Given the description of an element on the screen output the (x, y) to click on. 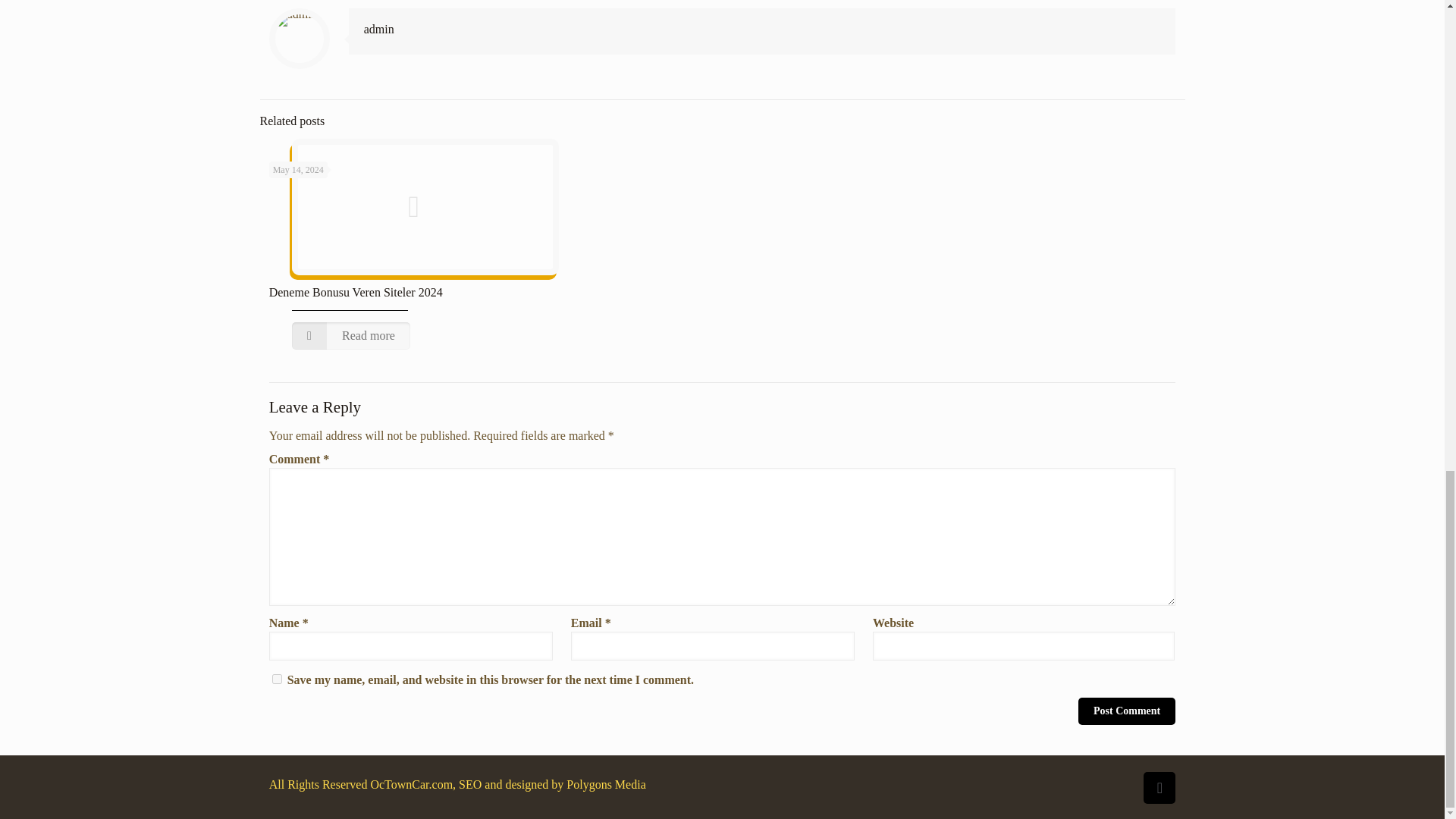
Post Comment (1126, 710)
Post Comment (1126, 710)
Read more (351, 335)
Deneme Bonusu Veren Siteler 2024 (355, 291)
admin (379, 29)
yes (277, 678)
SEO and designed by Polygons Media (550, 784)
